Given the description of an element on the screen output the (x, y) to click on. 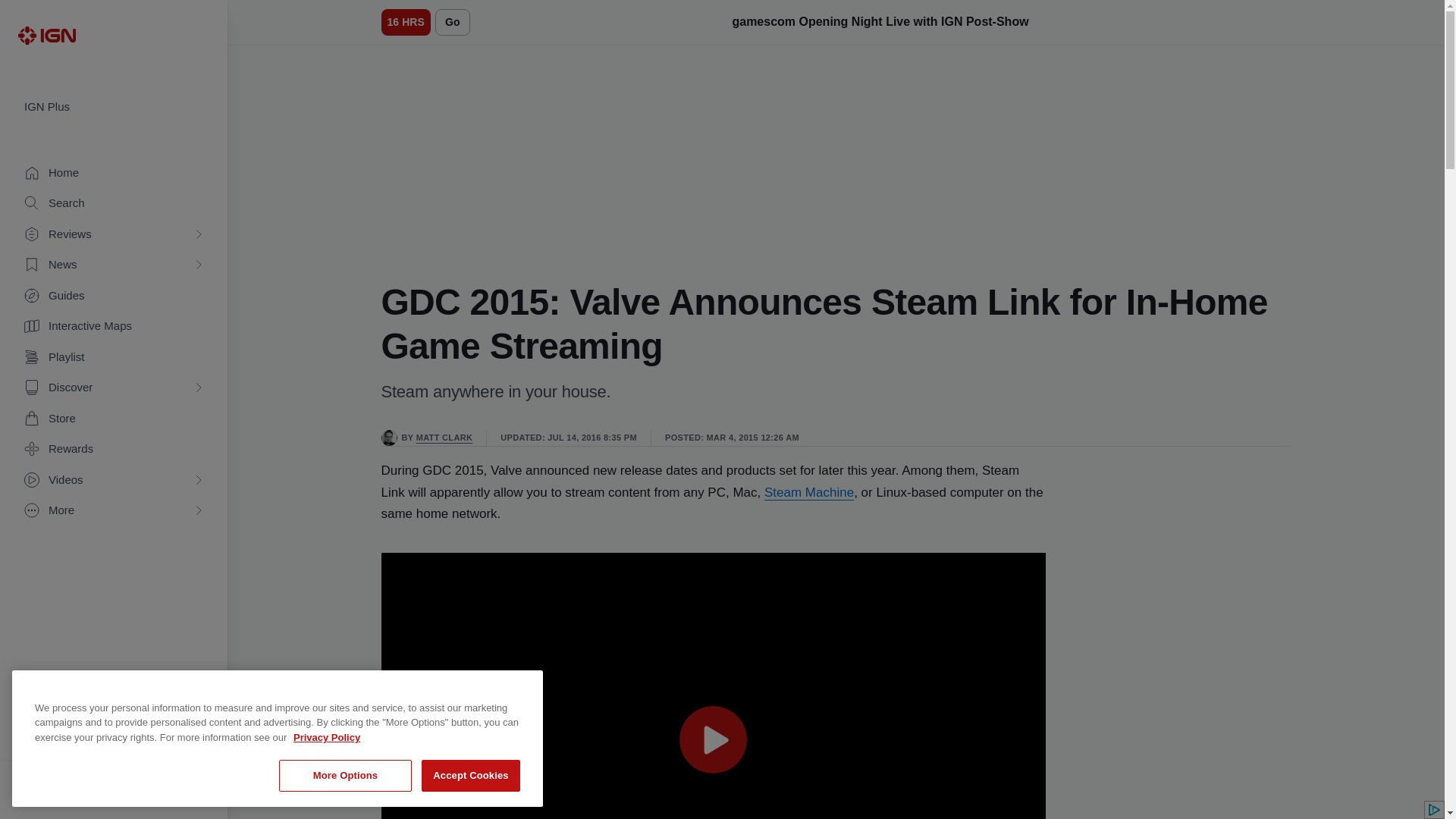
Videos (113, 480)
News (113, 265)
Discover (113, 387)
IGN Plus (113, 107)
News (113, 265)
More (113, 510)
IGN Logo (46, 35)
Rewards (113, 449)
Home (113, 172)
Discover (113, 387)
